Given the description of an element on the screen output the (x, y) to click on. 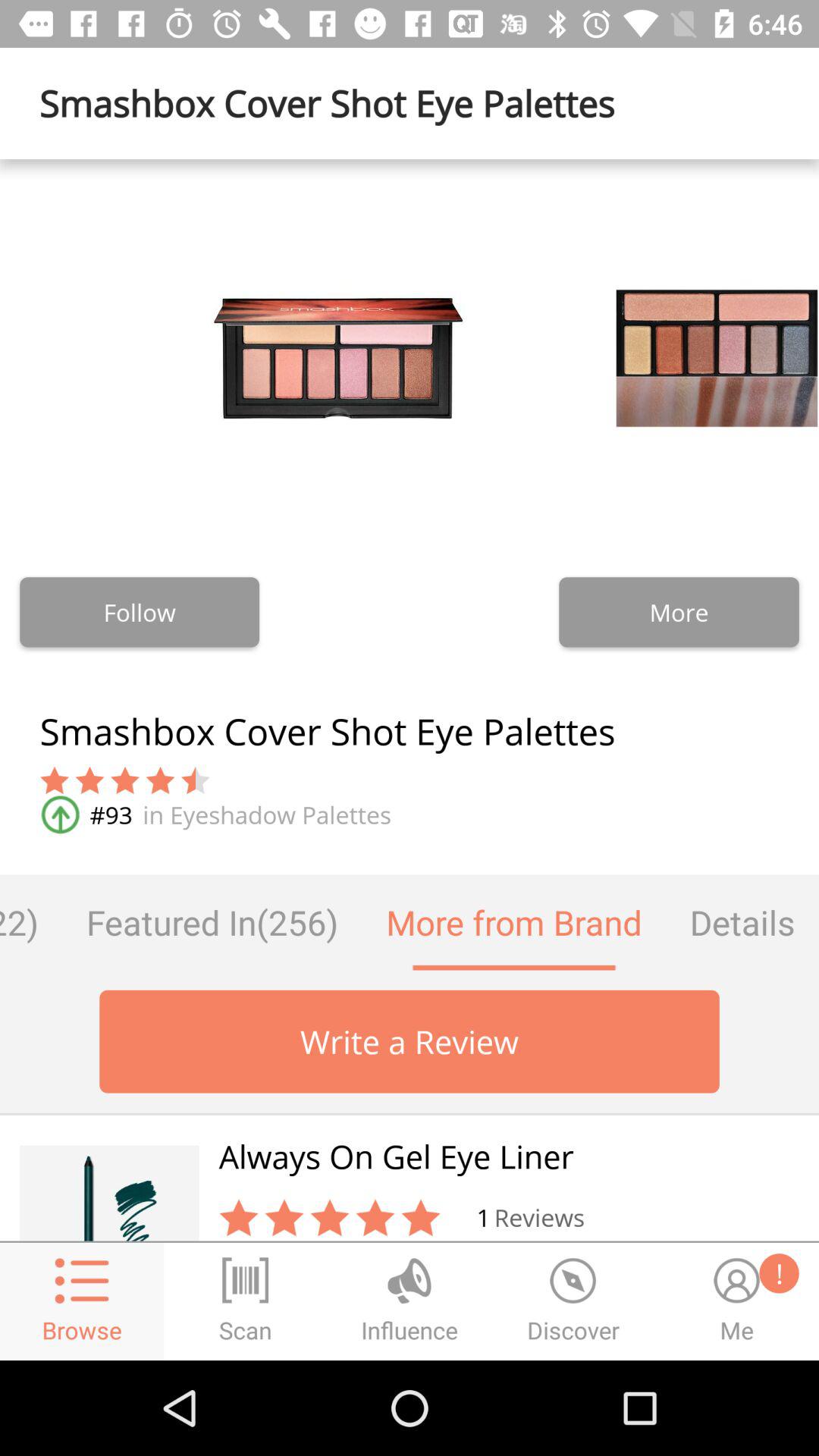
open item to the right of the featured in(256) icon (514, 922)
